Given the description of an element on the screen output the (x, y) to click on. 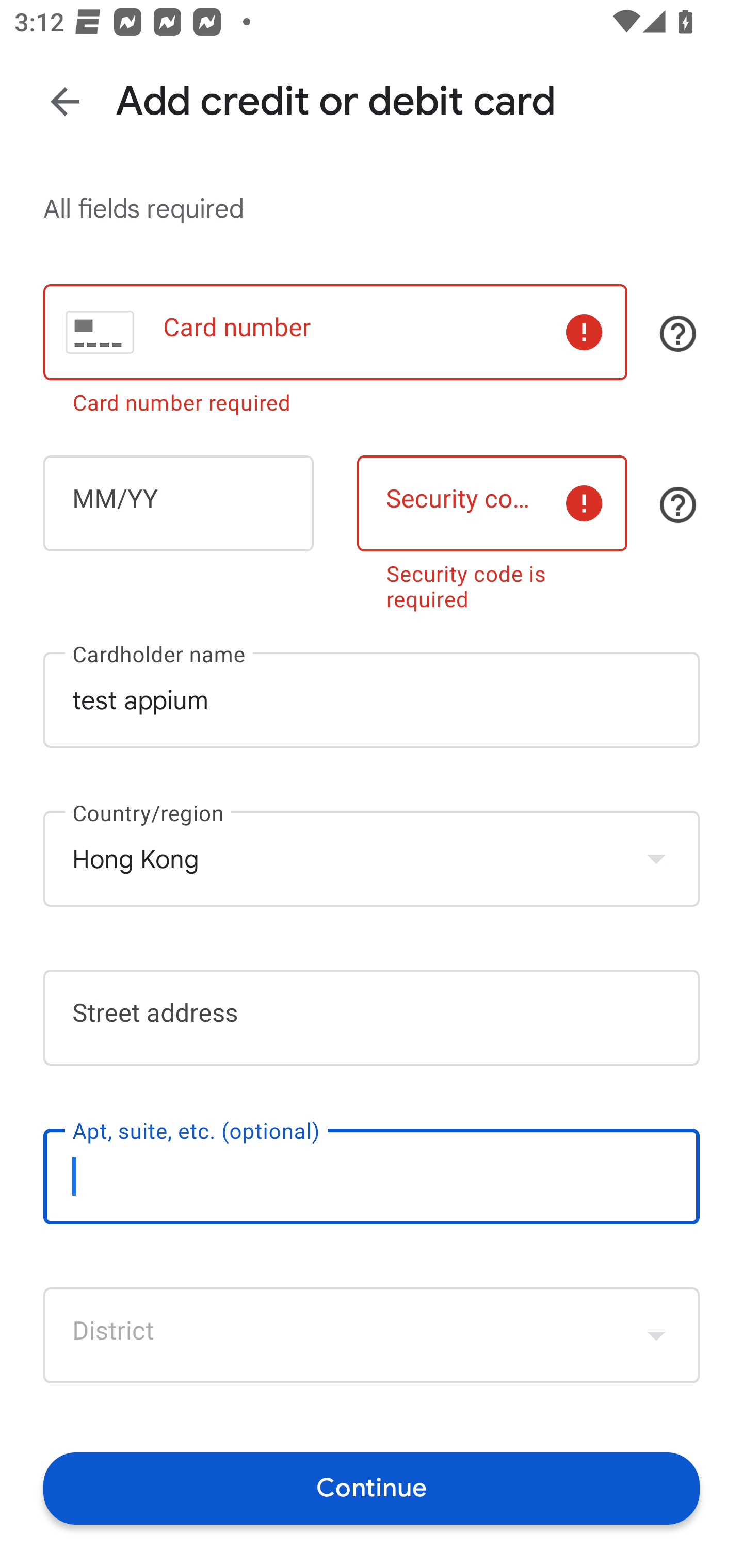
Back (64, 101)
Card number (335, 331)
Button, shows cards that are accepted for payment (677, 333)
Expiration date, 2 digit month, 2 digit year (178, 502)
Security code (492, 502)
Security code help (677, 504)
test appium (371, 699)
Hong Kong (371, 858)
Show dropdown menu (655, 858)
Street address (371, 1017)
Apt, suite, etc. (optional) (371, 1176)
District (371, 1334)
Show dropdown menu (655, 1335)
Continue (371, 1487)
